Given the description of an element on the screen output the (x, y) to click on. 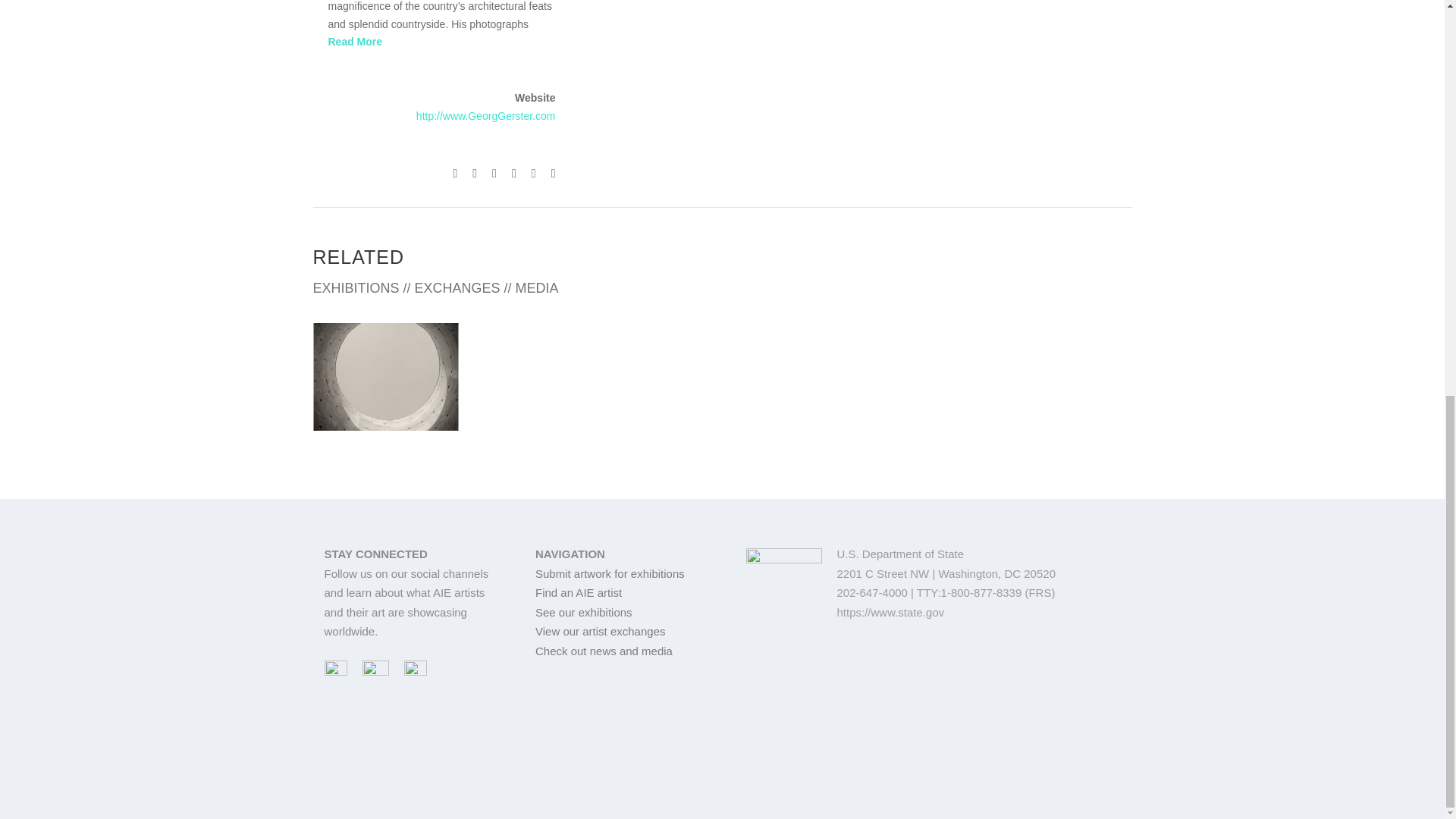
Funerary Tower, Ray, Iran (385, 376)
